Given the description of an element on the screen output the (x, y) to click on. 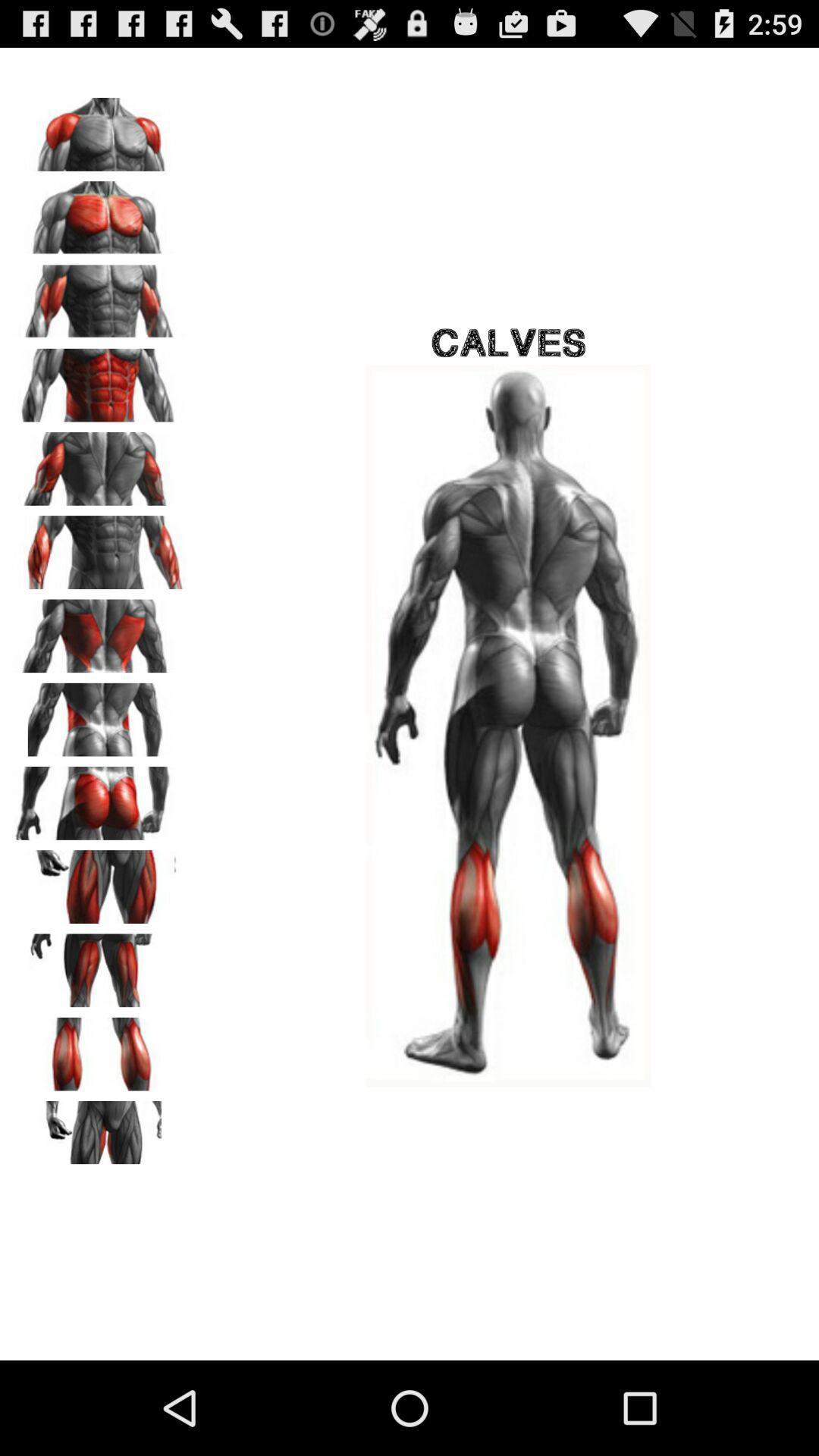
switch to image (99, 380)
